Given the description of an element on the screen output the (x, y) to click on. 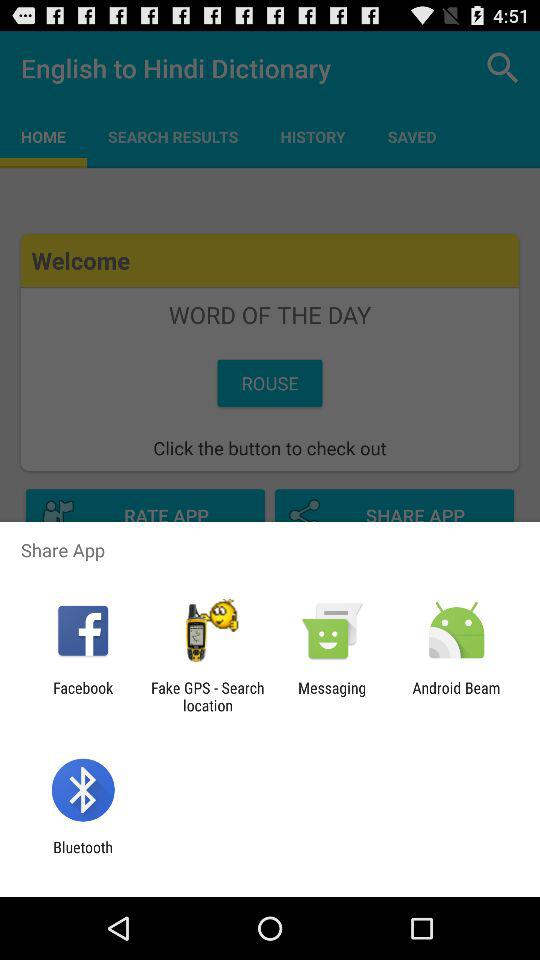
select the facebook icon (83, 696)
